Given the description of an element on the screen output the (x, y) to click on. 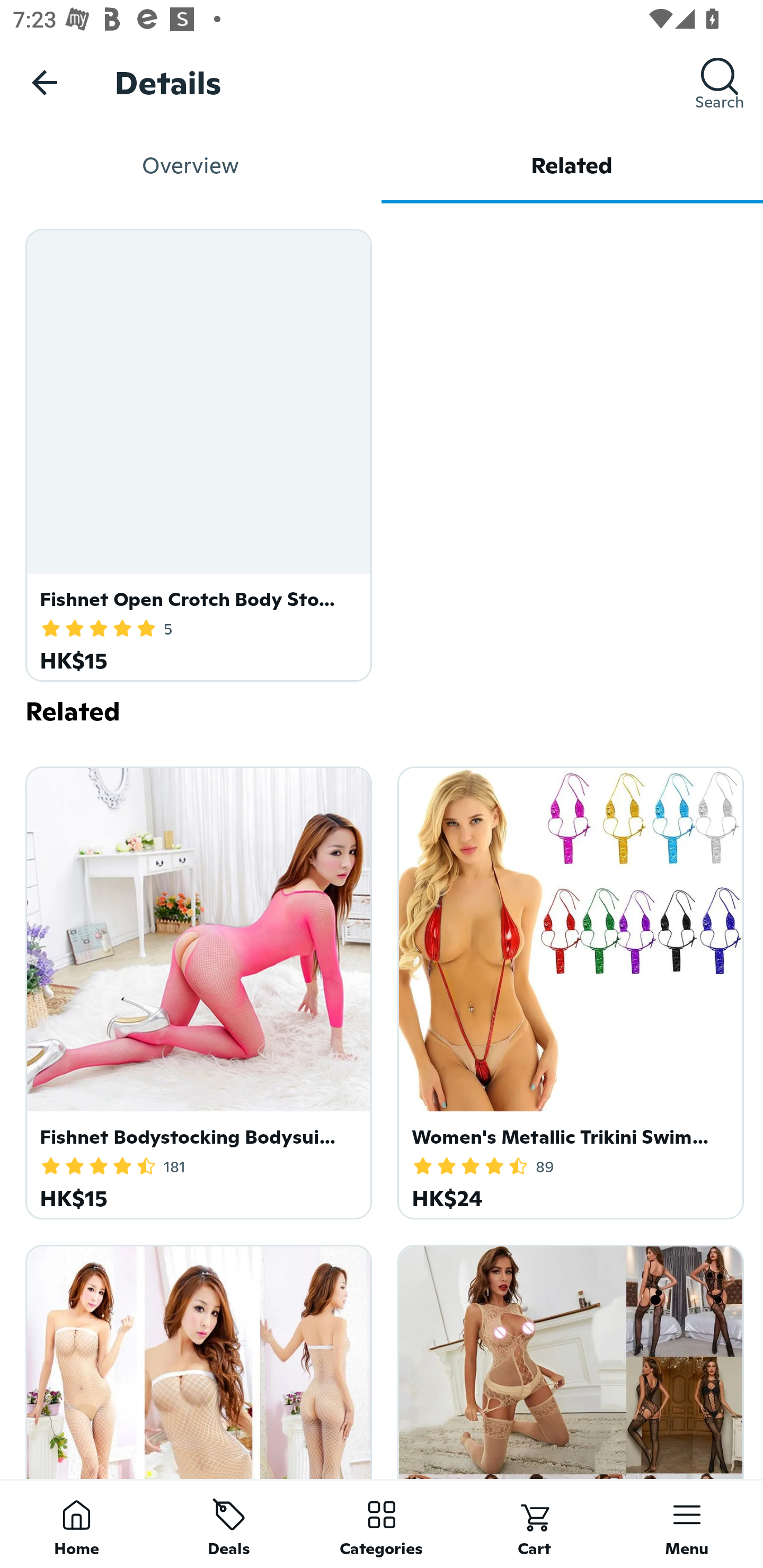
Navigate up (44, 82)
Search (719, 82)
Overview (190, 165)
Home (76, 1523)
Deals (228, 1523)
Categories (381, 1523)
Cart (533, 1523)
Menu (686, 1523)
